Given the description of an element on the screen output the (x, y) to click on. 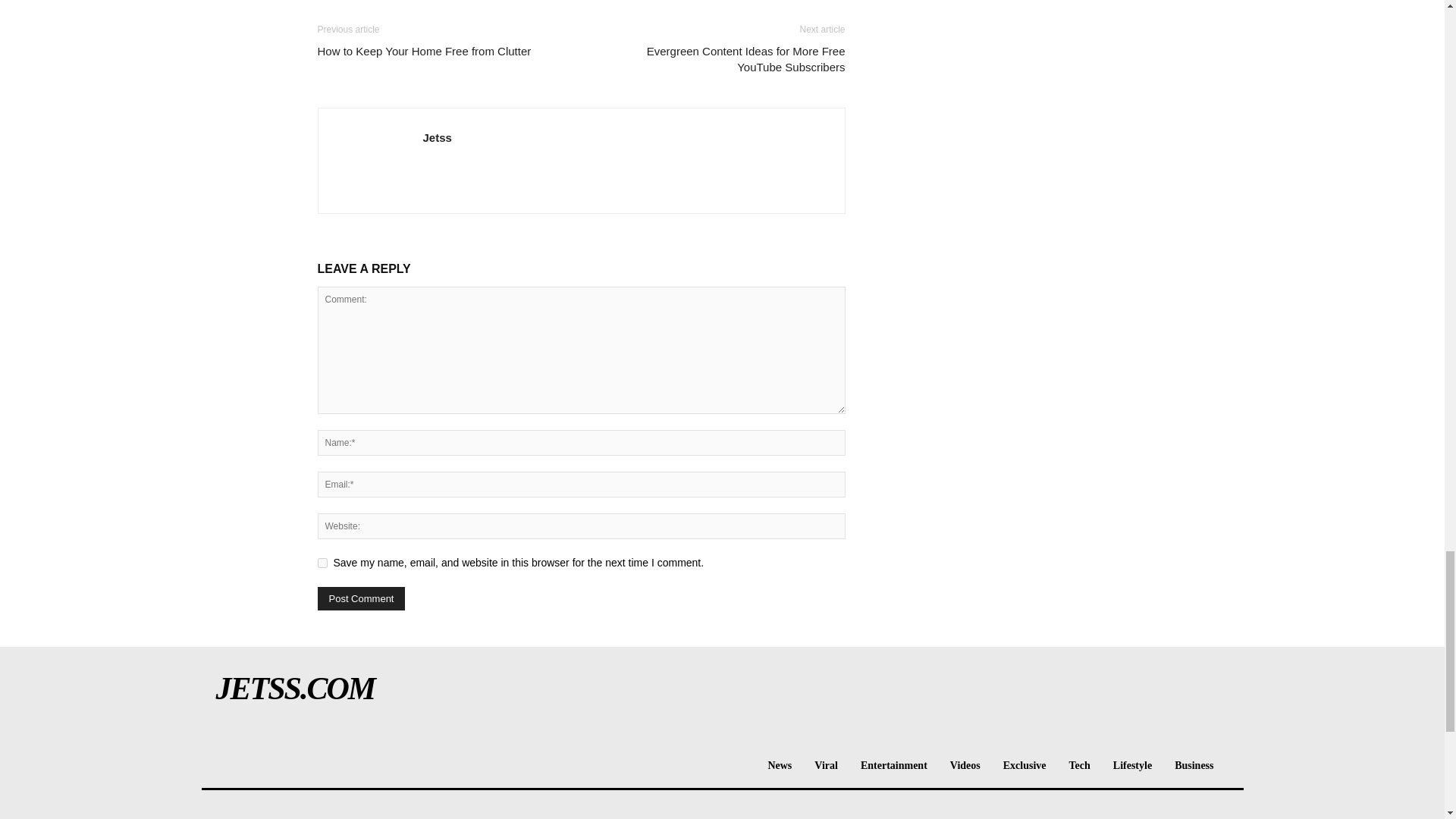
yes (321, 562)
Post Comment (360, 598)
